Given the description of an element on the screen output the (x, y) to click on. 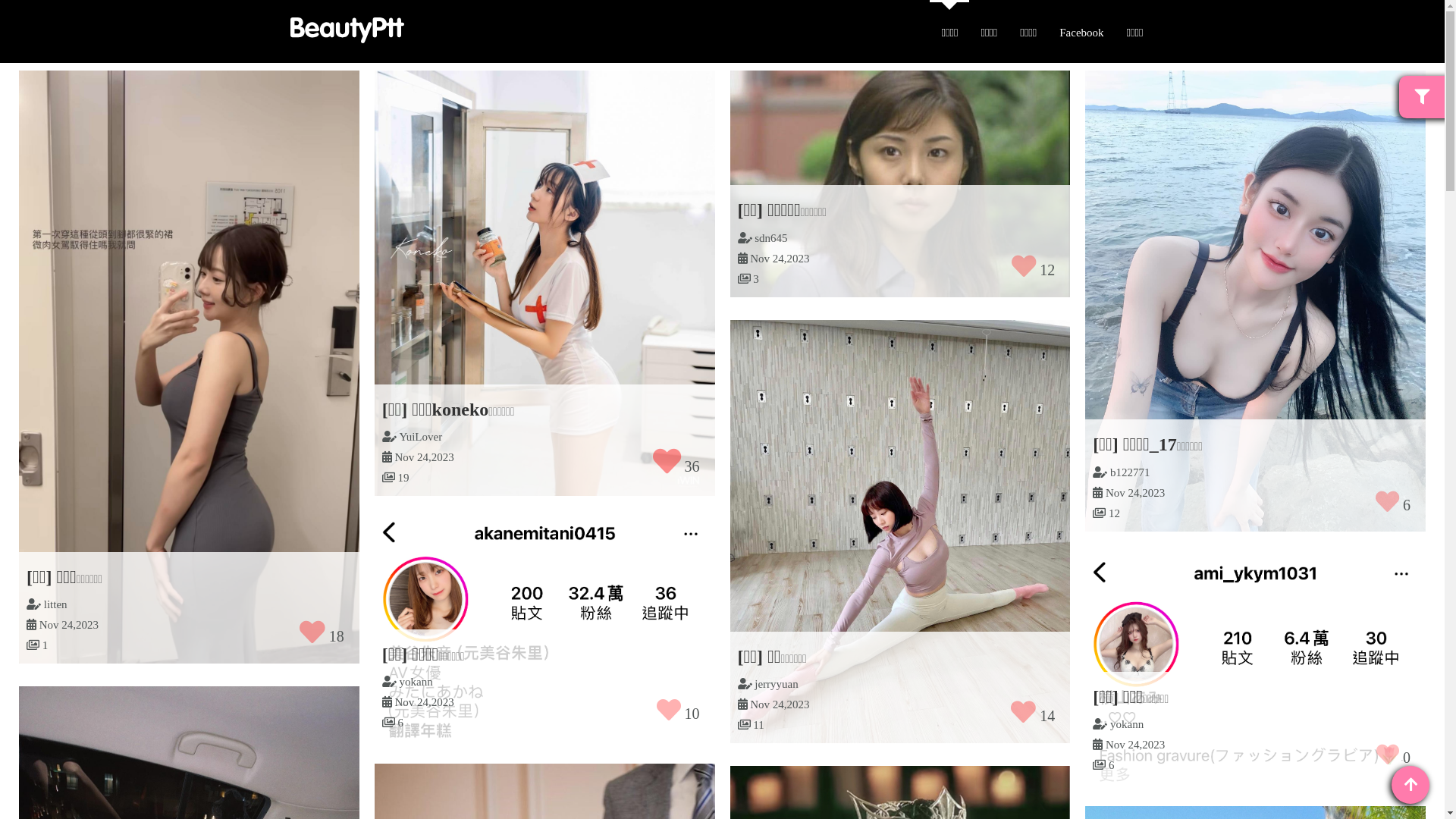
Facebook Element type: text (1081, 31)
